Given the description of an element on the screen output the (x, y) to click on. 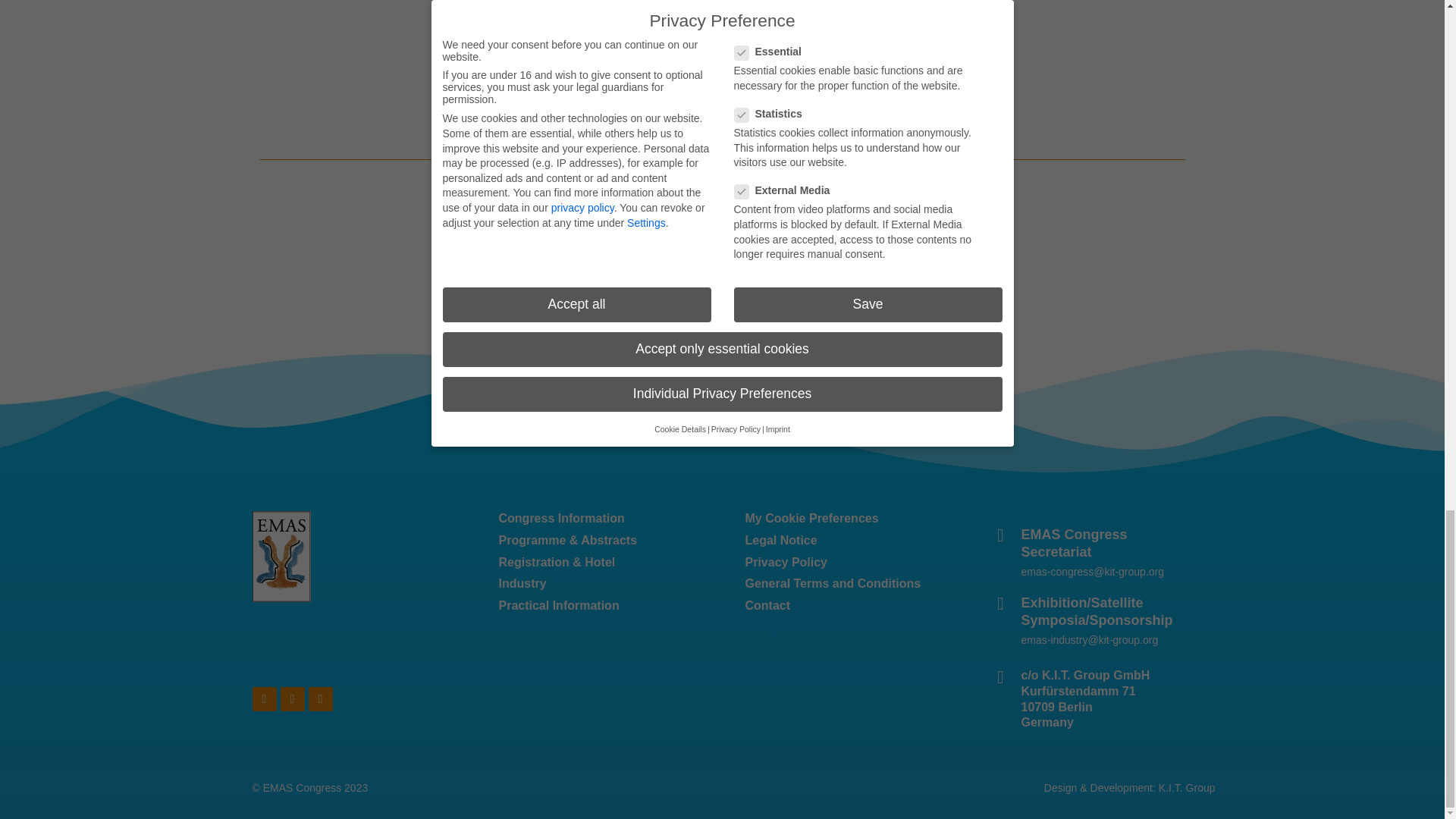
K.I.T. Group (1186, 787)
Legal Notice (844, 540)
General Terms and Conditions (844, 584)
Congress Information (599, 519)
Follow EMAS Now! (722, 128)
Industry (599, 584)
follow us (564, 91)
My Cookie Preferences (844, 519)
Practical Information (599, 606)
Contact (844, 606)
Privacy Policy (844, 562)
